Given the description of an element on the screen output the (x, y) to click on. 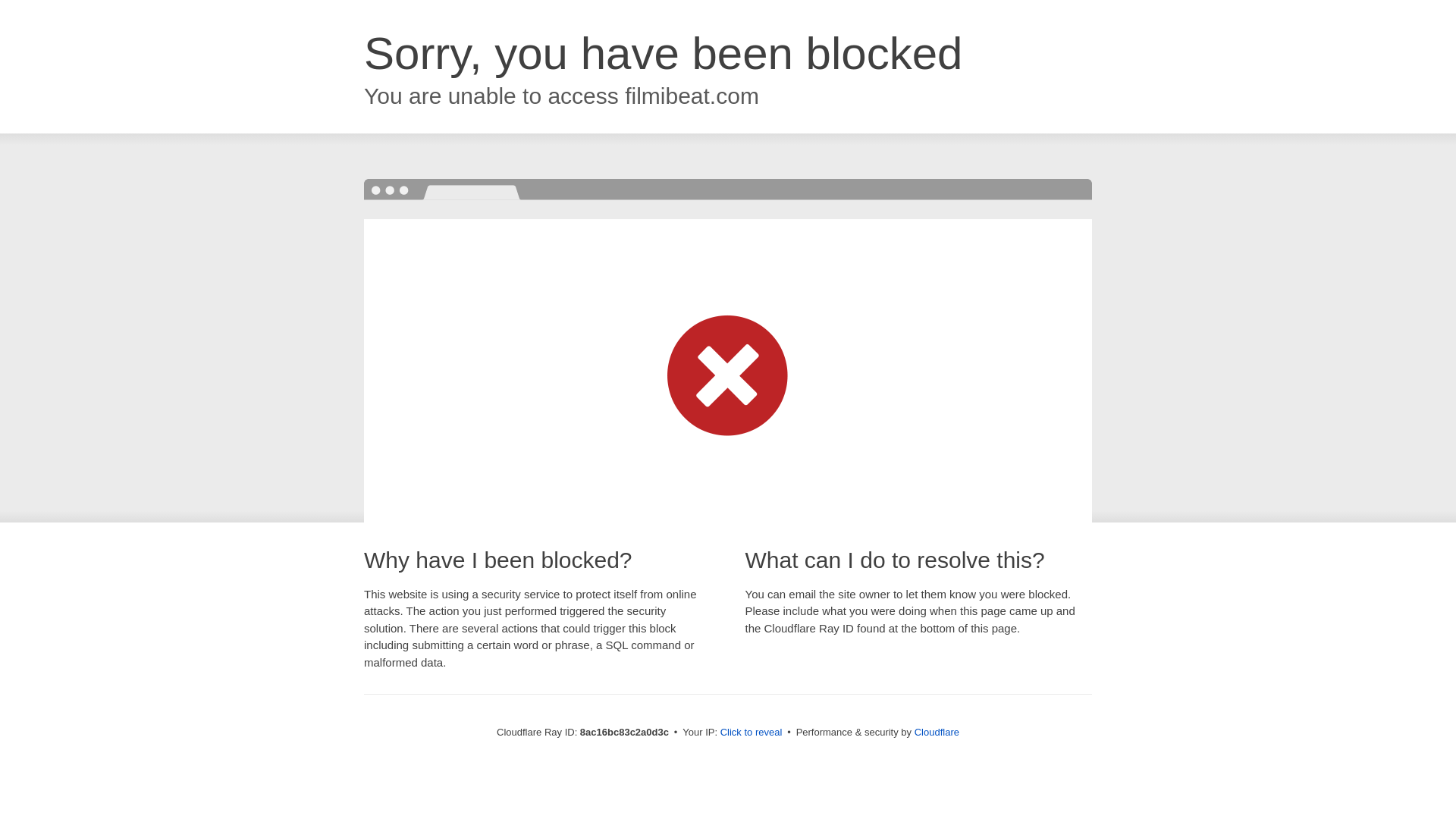
Cloudflare (936, 731)
Click to reveal (751, 732)
